Given the description of an element on the screen output the (x, y) to click on. 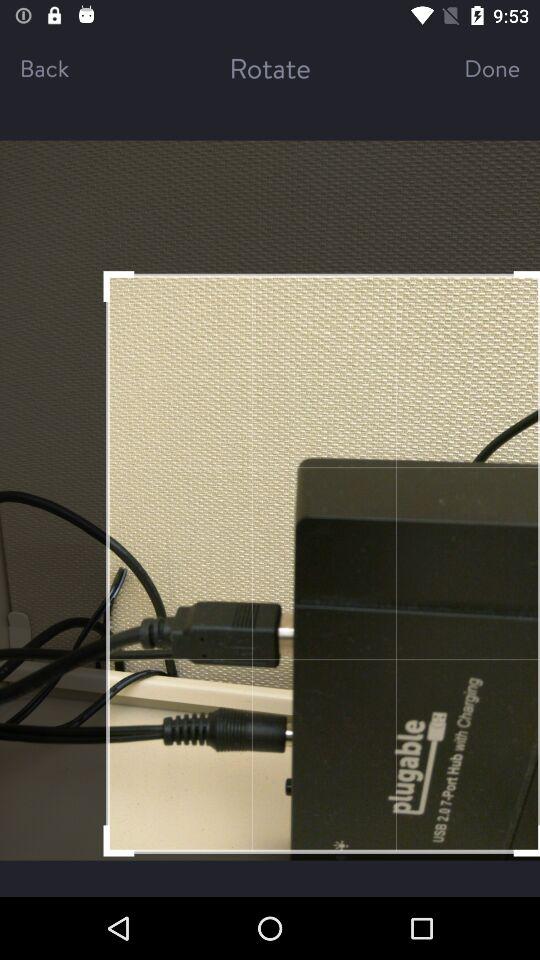
choose back (65, 67)
